Given the description of an element on the screen output the (x, y) to click on. 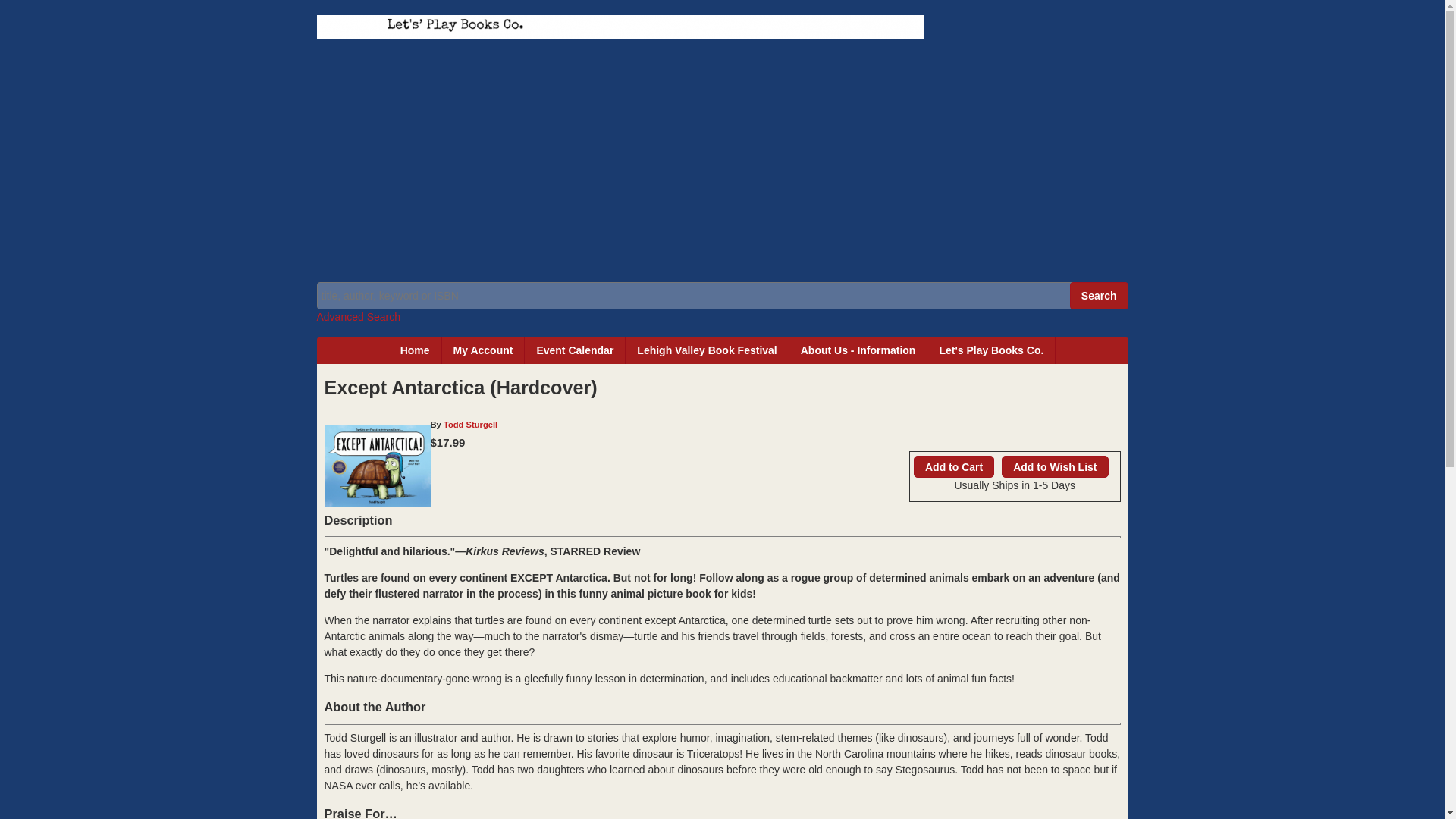
My Account (483, 350)
Home (415, 350)
Add to Wish List (1054, 466)
Enter the terms you wish to search for. (721, 295)
About Us - Information (858, 350)
Search (1099, 295)
Add to Cart (954, 466)
Lehigh Valley Book Festival (707, 350)
Event Calendar (575, 350)
